Given the description of an element on the screen output the (x, y) to click on. 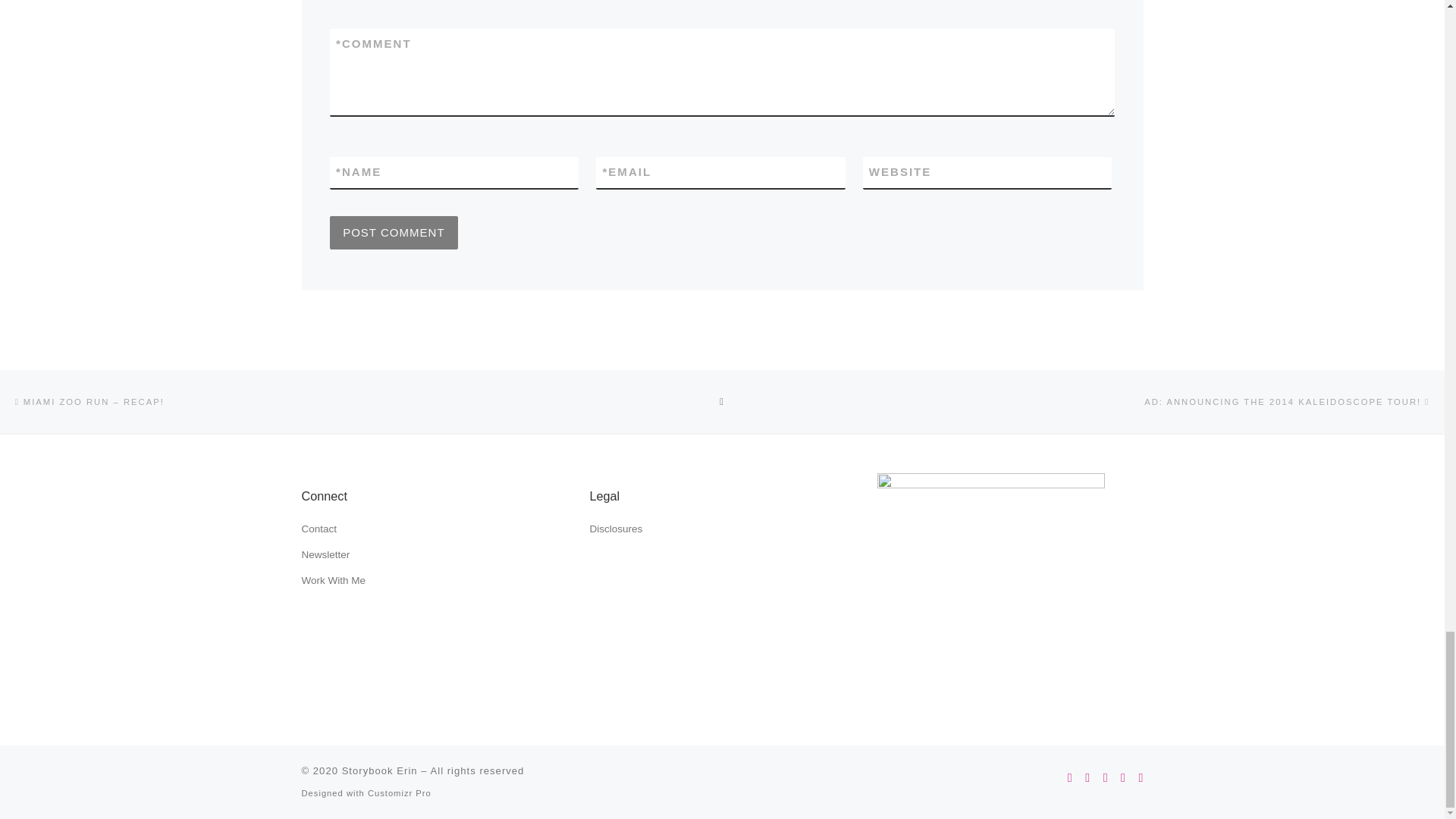
Post Comment (394, 232)
